Given the description of an element on the screen output the (x, y) to click on. 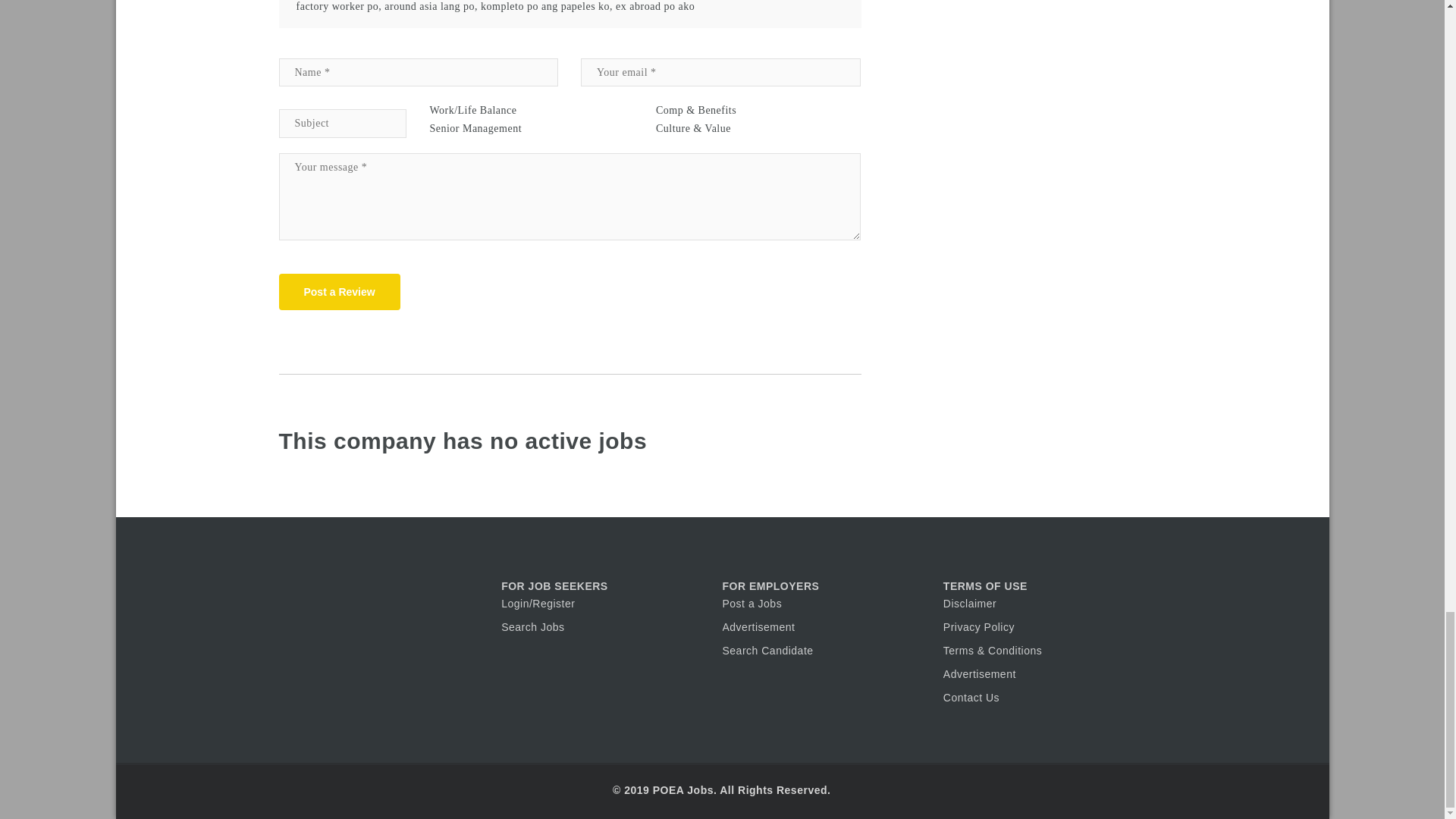
Advertisement (758, 626)
Privacy Policy (978, 626)
Search Jobs (532, 626)
Disclaimer (969, 603)
Contact Us (970, 697)
Advertisement (979, 674)
Search Candidate (767, 650)
Post a Review (339, 291)
Post a Jobs (751, 603)
